Given the description of an element on the screen output the (x, y) to click on. 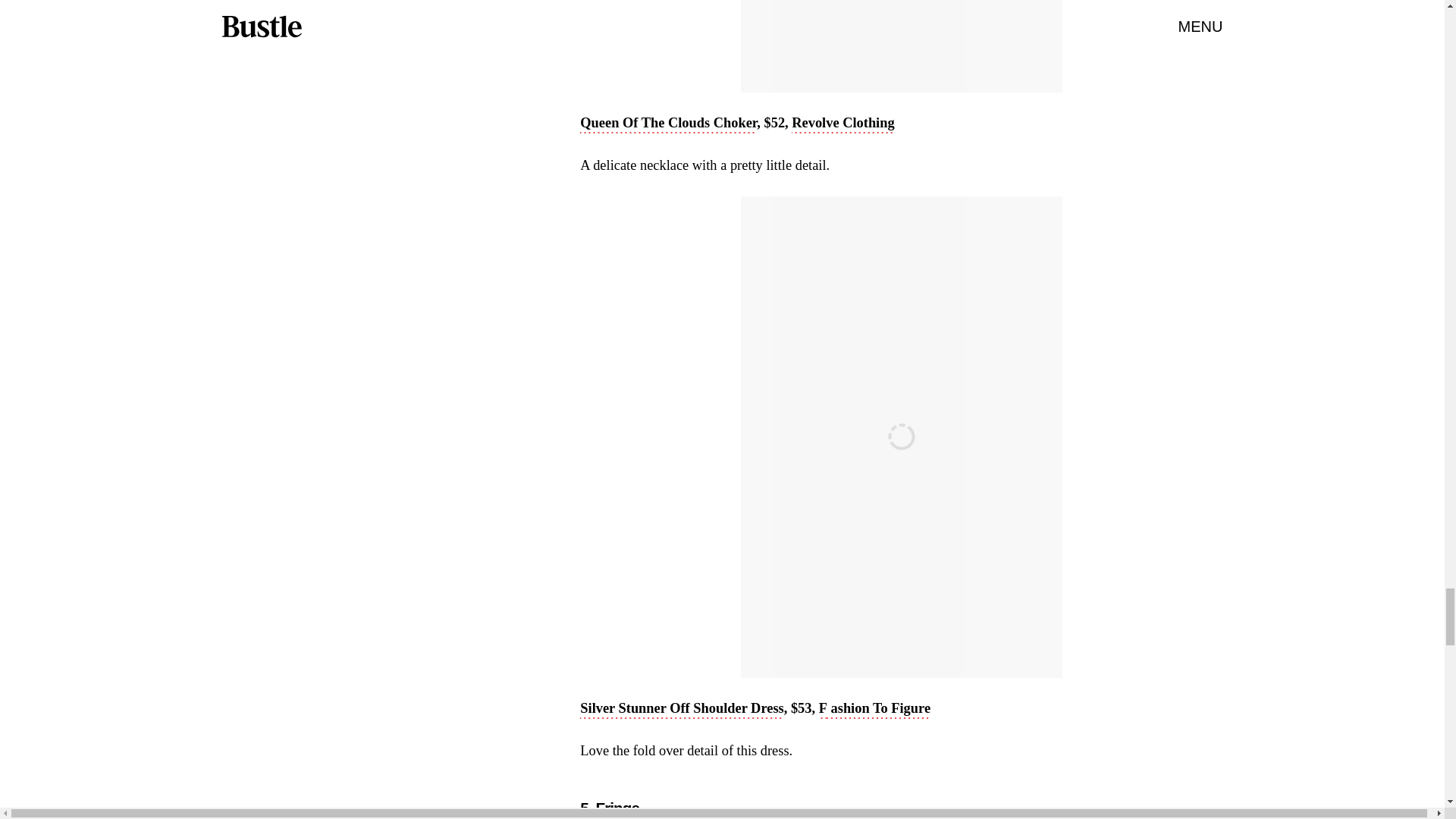
Revolve Clothing (842, 124)
ashion To Figure (878, 710)
Silver Stunner Off Shoulder Dress (681, 710)
Fringe (617, 807)
Queen Of The Clouds Choker (668, 124)
